Given the description of an element on the screen output the (x, y) to click on. 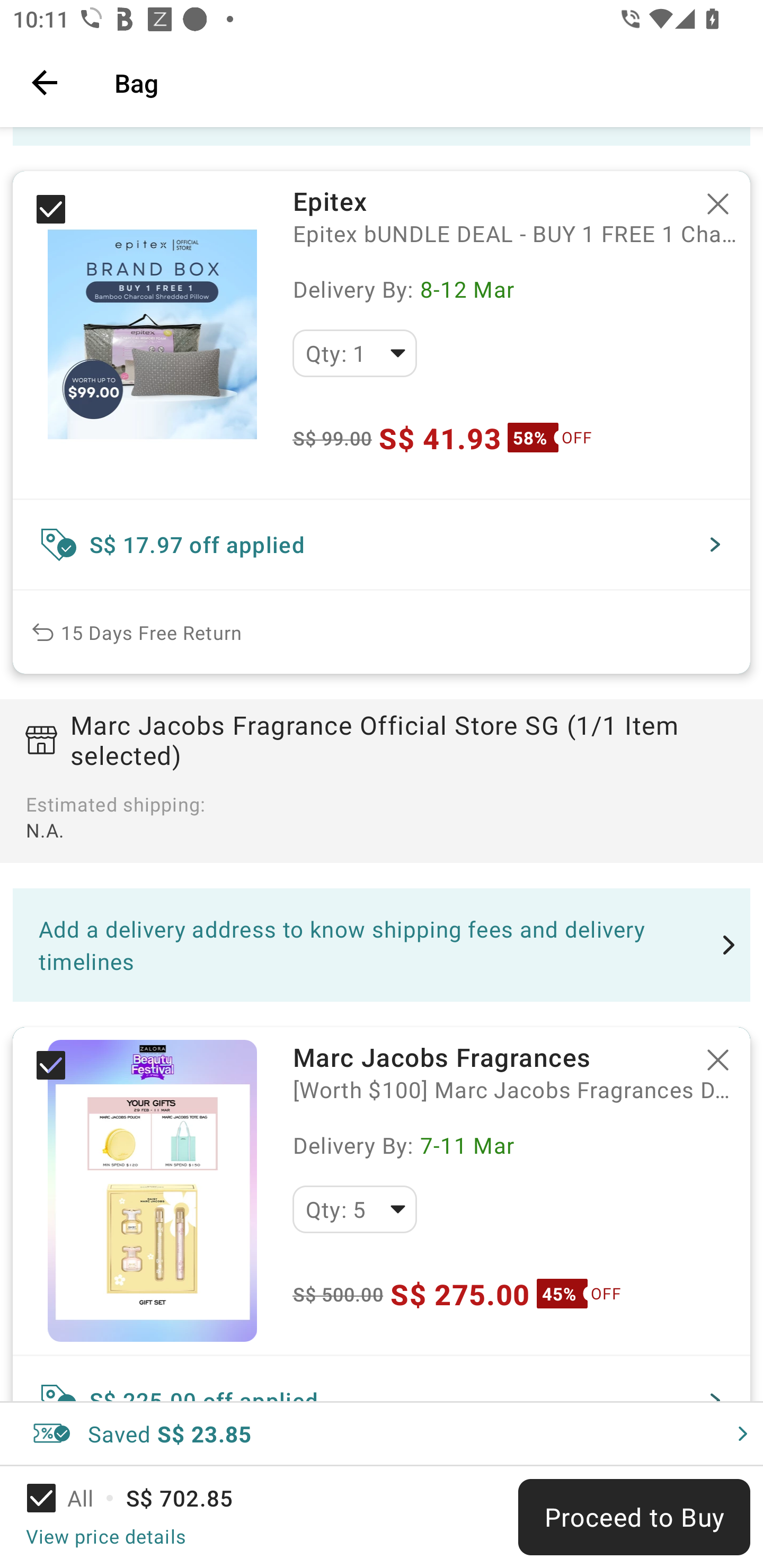
Navigate up (44, 82)
Bag (426, 82)
Qty: 1 (354, 353)
S$ 17.97 off applied (381, 544)
Qty: 5 (354, 1208)
Saved S$ 23.85 (381, 1433)
All (72, 1497)
Proceed to Buy (634, 1516)
View price details (105, 1535)
